Given the description of an element on the screen output the (x, y) to click on. 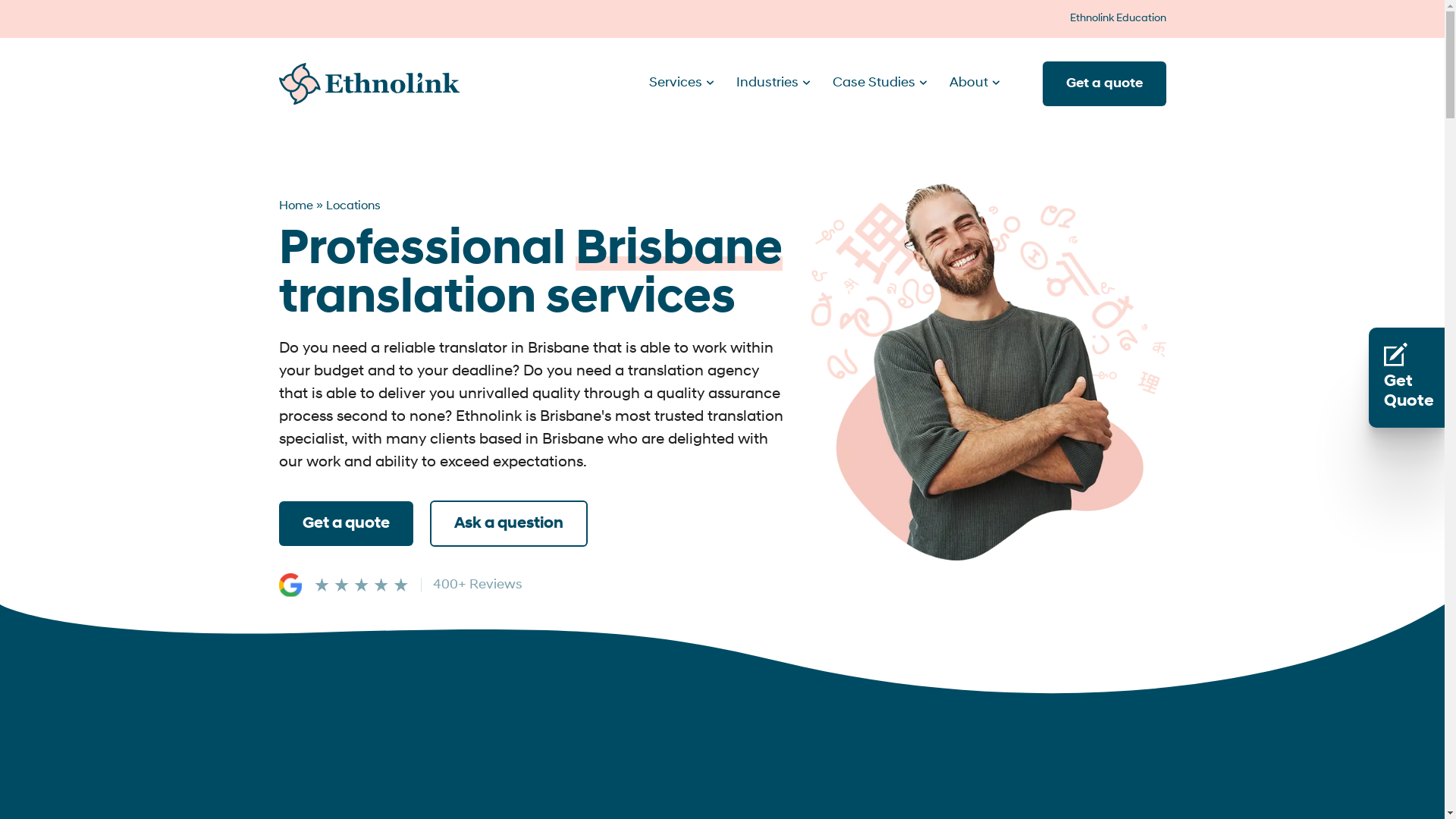
Get a quote Element type: text (1103, 82)
Case Studies Element type: text (873, 83)
Home Element type: text (296, 206)
Get a quote Element type: text (346, 523)
Locations Element type: text (353, 206)
About Element type: text (968, 83)
Services Element type: text (675, 83)
Industries Element type: text (766, 83)
Get Quote Element type: text (1406, 377)
Ethnolink Education Element type: text (1117, 18)
Ask a question Element type: text (507, 523)
